Given the description of an element on the screen output the (x, y) to click on. 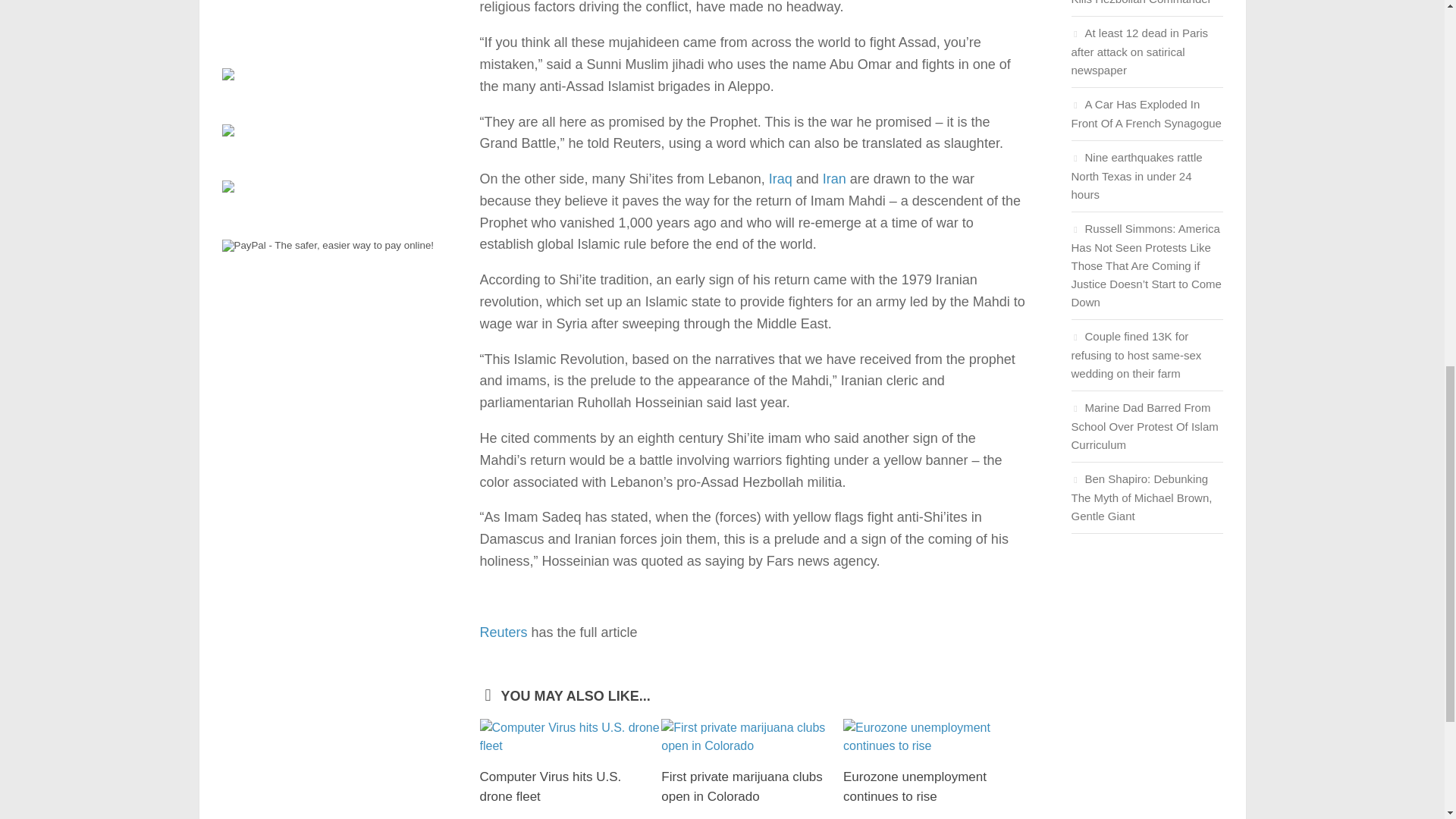
Eurozone unemployment continues to rise (915, 786)
Eurozone unemployment continues to rise (934, 737)
Computer Virus hits U.S. drone fleet (550, 786)
First private marijuana clubs open in Colorado (752, 737)
First private marijuana clubs open in Colorado (741, 786)
Computer Virus hits U.S. drone fleet (570, 737)
